Given the description of an element on the screen output the (x, y) to click on. 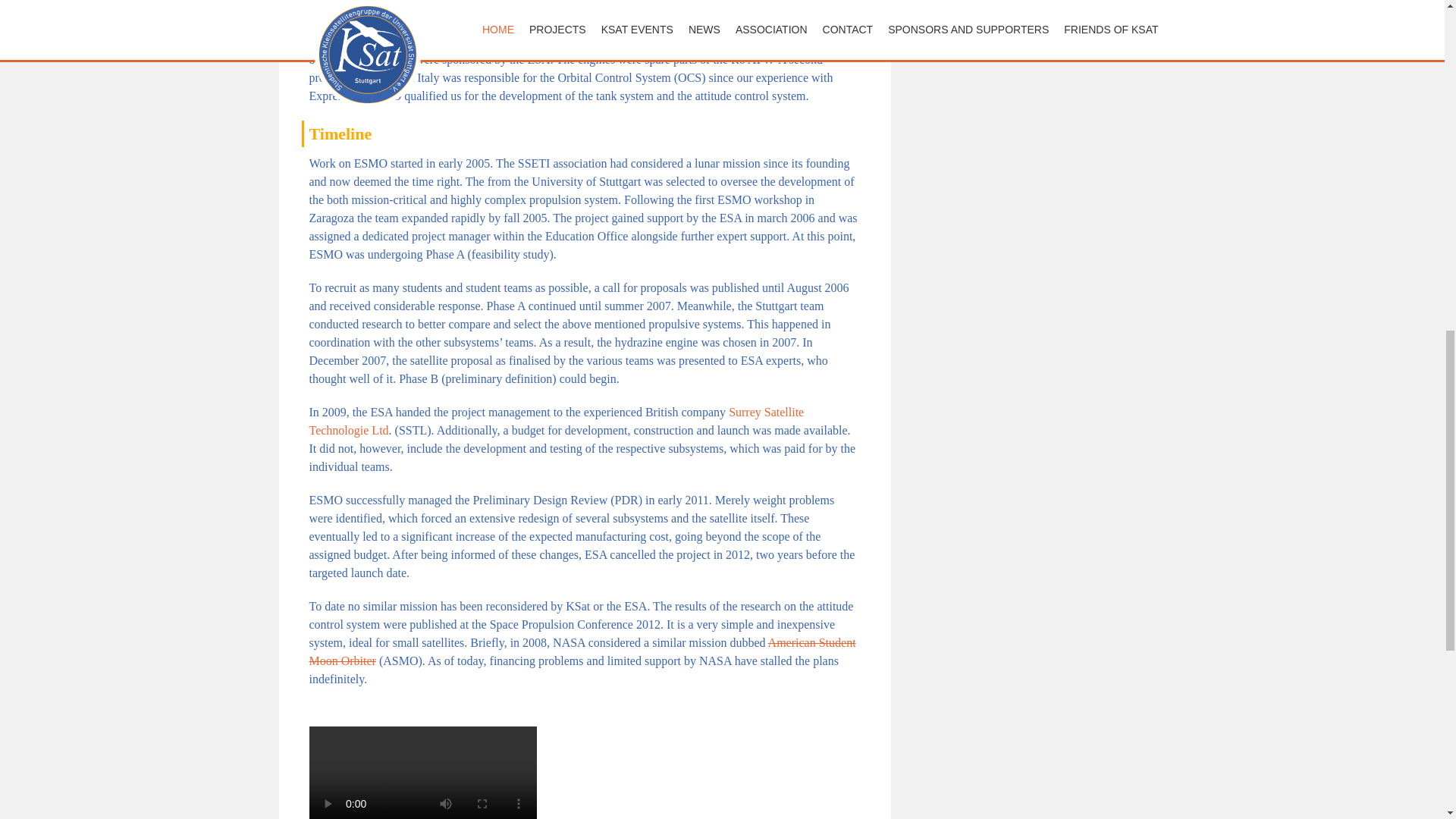
Surrey Satellite Technologie Ltd (556, 420)
American Student Moon Orbiter (582, 651)
